Given the description of an element on the screen output the (x, y) to click on. 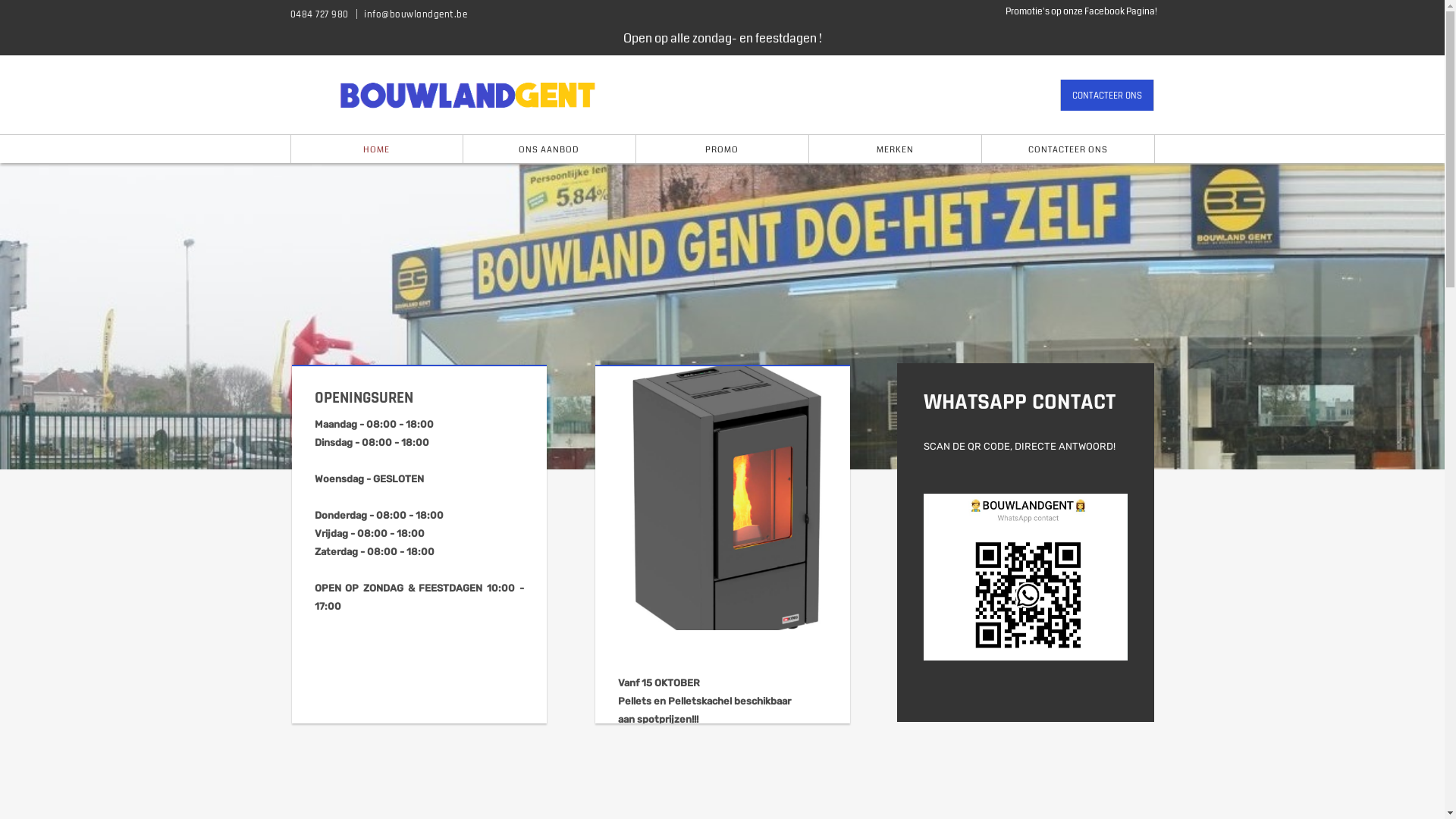
CONTACTEER ONS Element type: text (1107, 94)
MERKEN Element type: text (894, 148)
HOME Element type: text (375, 148)
ONS AANBOD Element type: text (548, 148)
PROMO Element type: text (721, 148)
CONTACTEER ONS Element type: text (1067, 148)
info@bouwlandgent.be Element type: text (415, 14)
0484 727 980 Element type: text (320, 14)
Promotie's op onze Facebook Pagina! Element type: text (1081, 11)
